Given the description of an element on the screen output the (x, y) to click on. 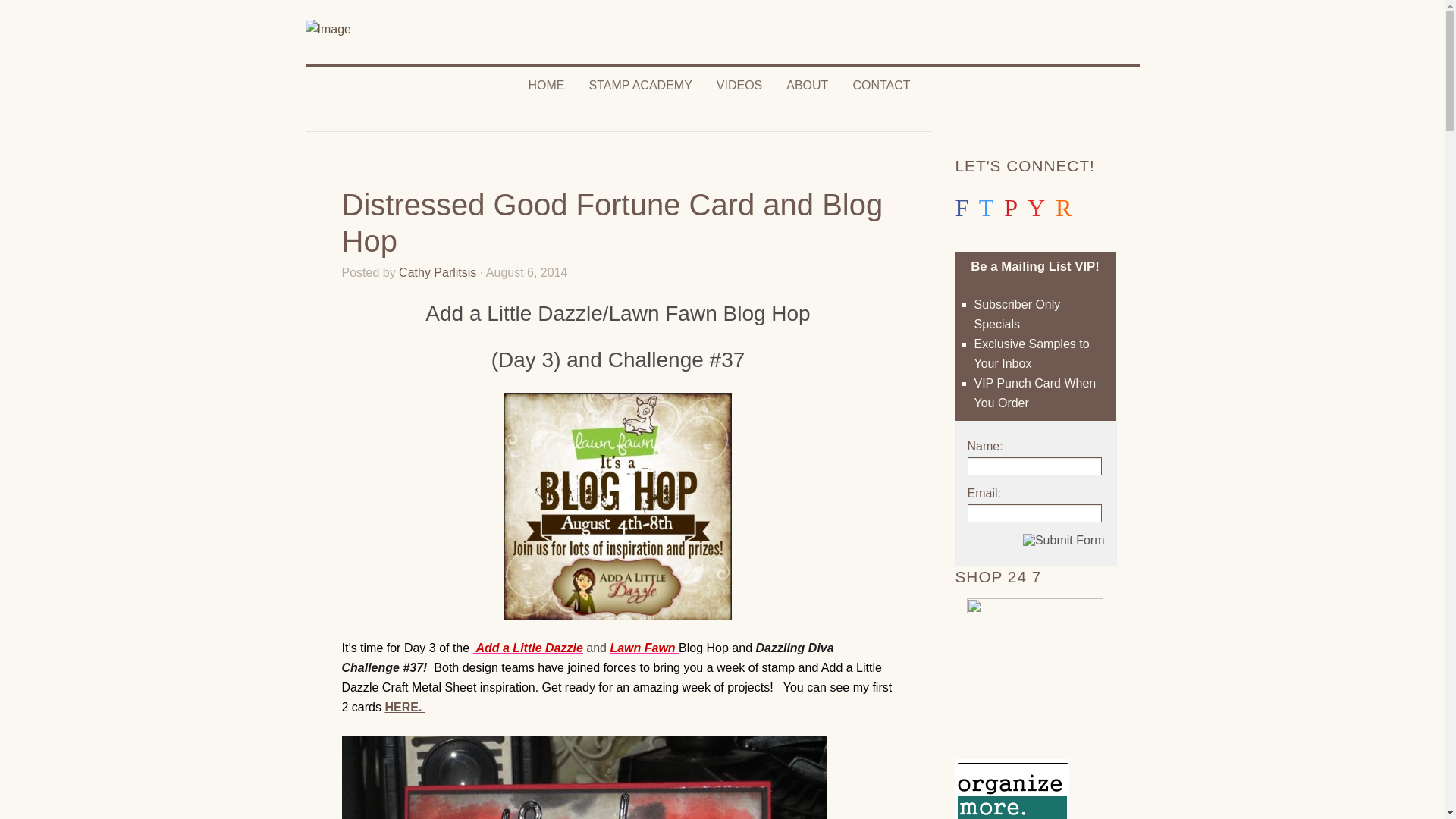
Distressed Good Fortune Card and Blog Hop (611, 222)
HOME (545, 85)
Lawn Fawn  (644, 647)
 Add a Little Dazzle (528, 647)
HERE.  (404, 707)
STAMP ACADEMY (639, 85)
CONTACT (880, 85)
Cathy Parlitsis (437, 272)
ABOUT (807, 85)
Cathy Parlitsis (437, 272)
VIDEOS (739, 85)
